Given the description of an element on the screen output the (x, y) to click on. 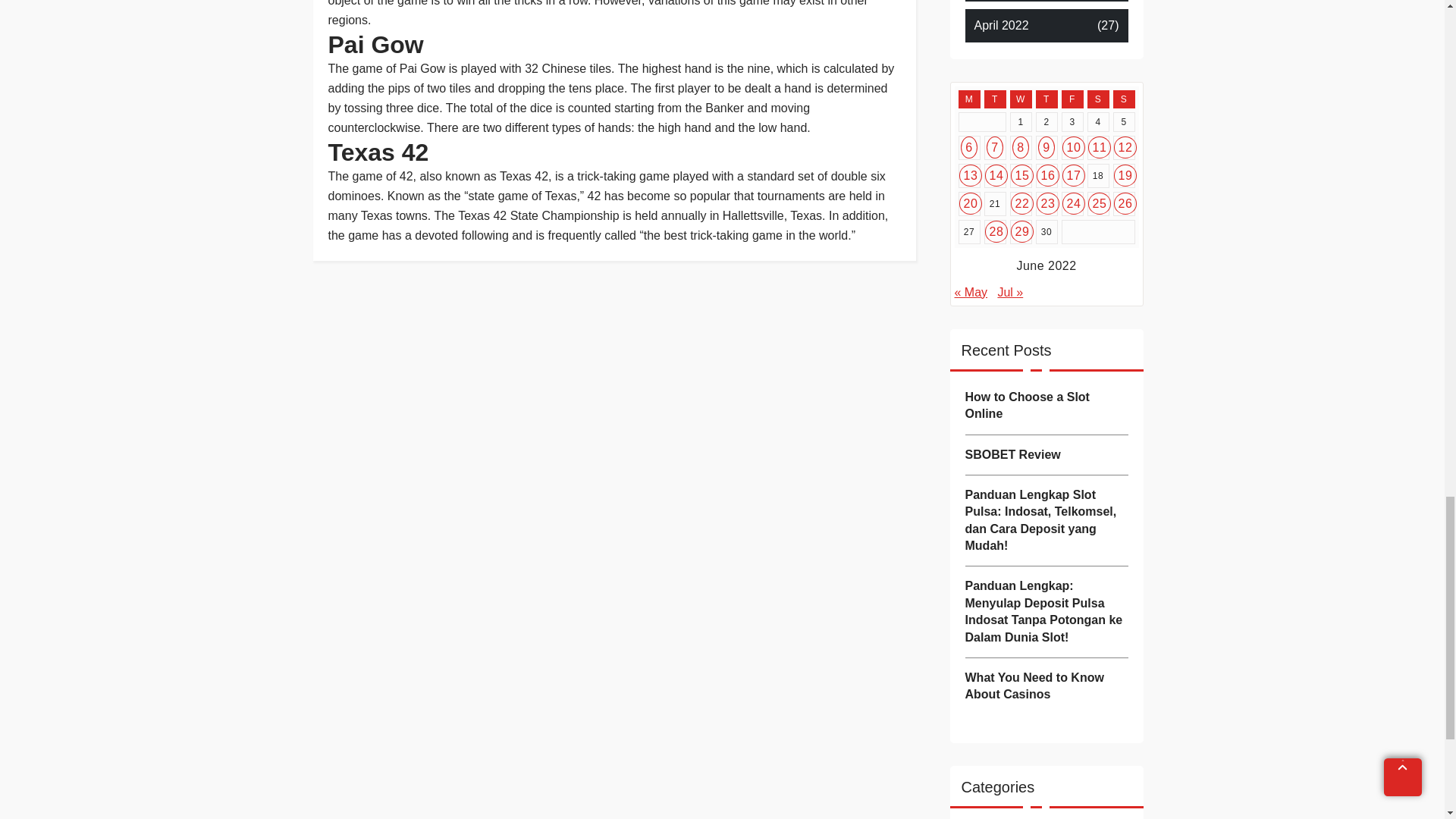
Tuesday (995, 99)
Sunday (1124, 99)
Thursday (1046, 99)
Friday (1072, 99)
Monday (968, 99)
Saturday (1098, 99)
Wednesday (1021, 99)
